Given the description of an element on the screen output the (x, y) to click on. 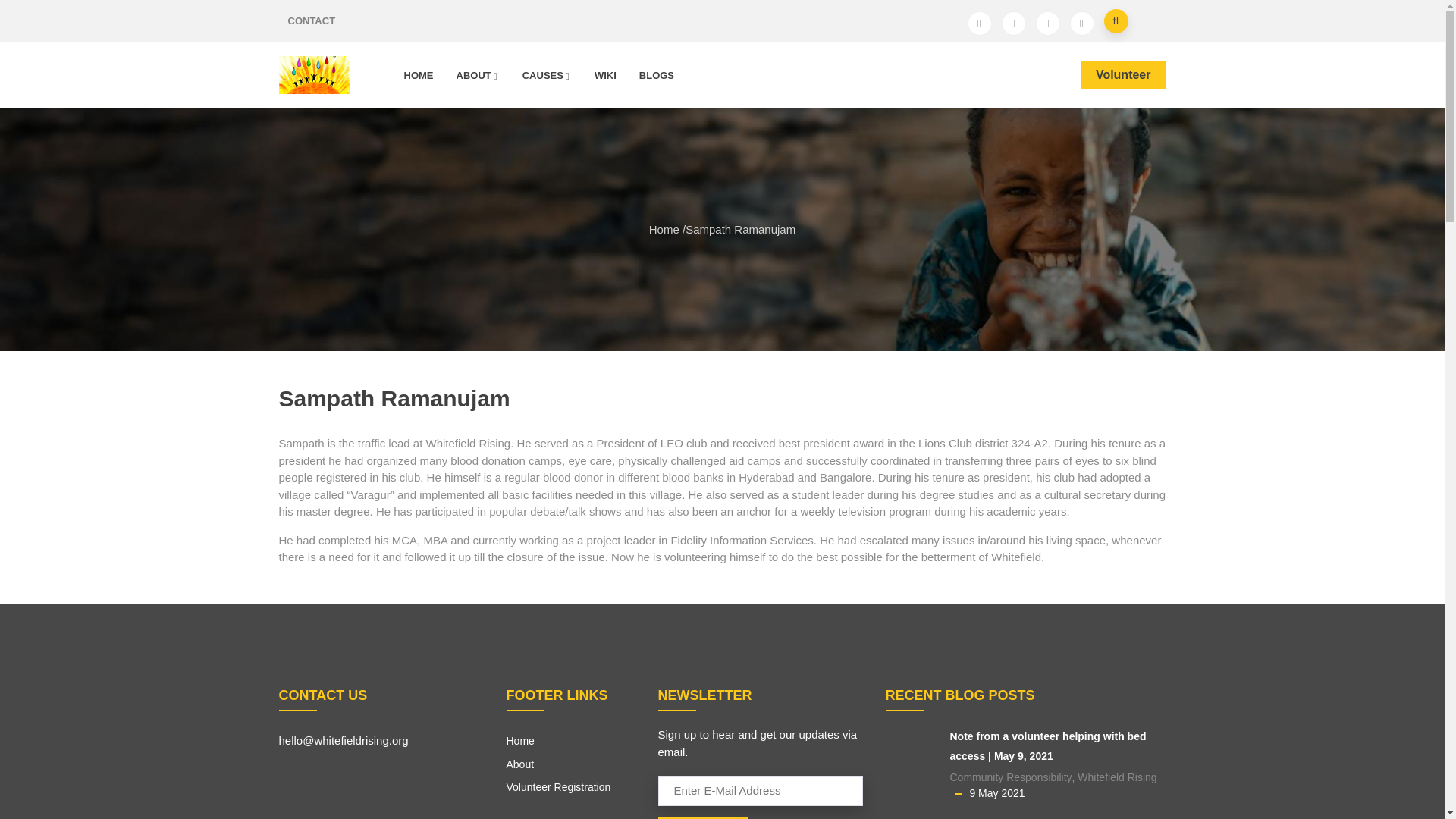
CONTACT (312, 21)
Subscribe (703, 818)
HOME (419, 75)
